Given the description of an element on the screen output the (x, y) to click on. 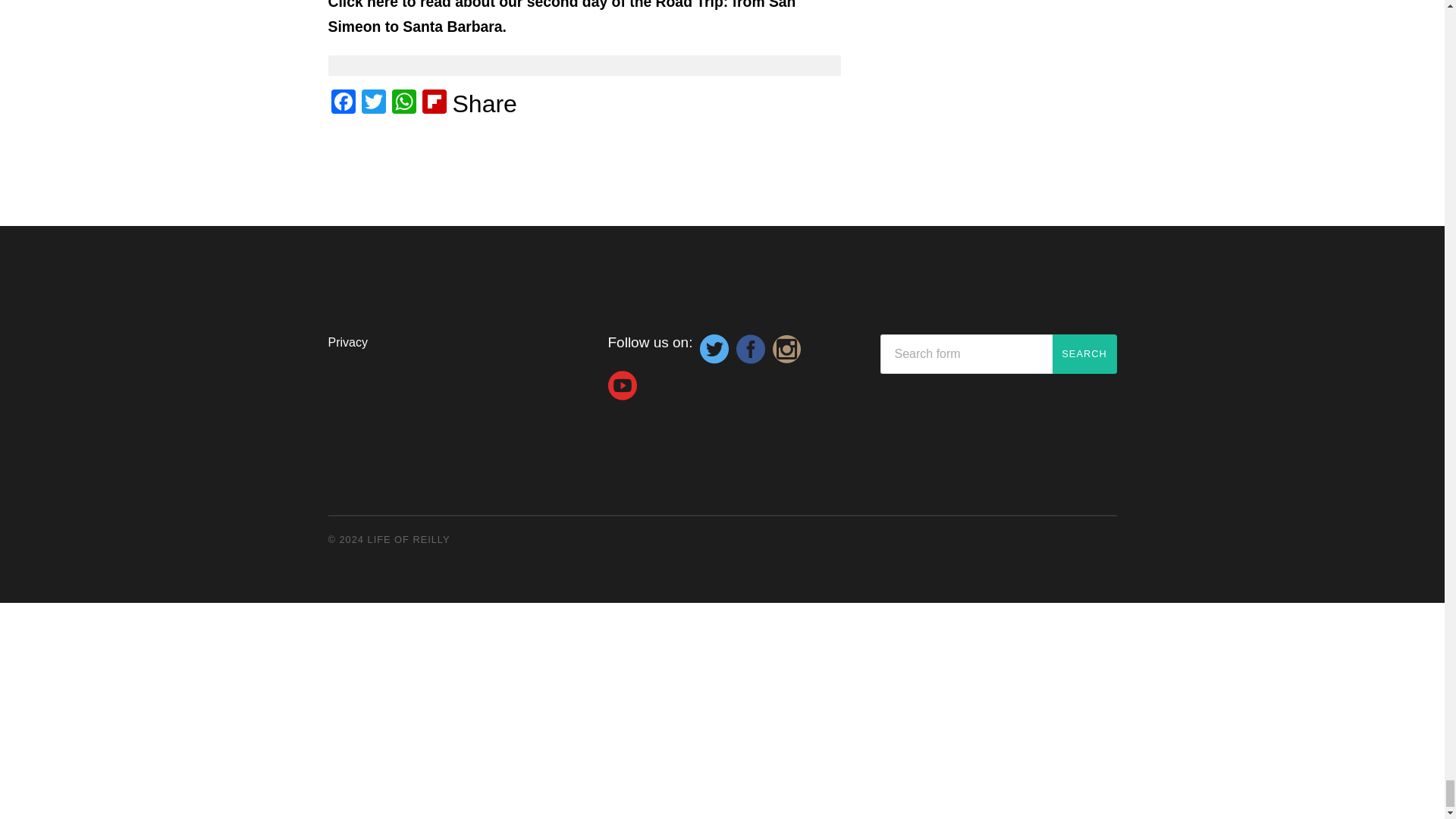
Search (1084, 353)
Flipboard (433, 103)
Twitter (373, 103)
WhatsApp (403, 103)
Facebook (342, 103)
